Given the description of an element on the screen output the (x, y) to click on. 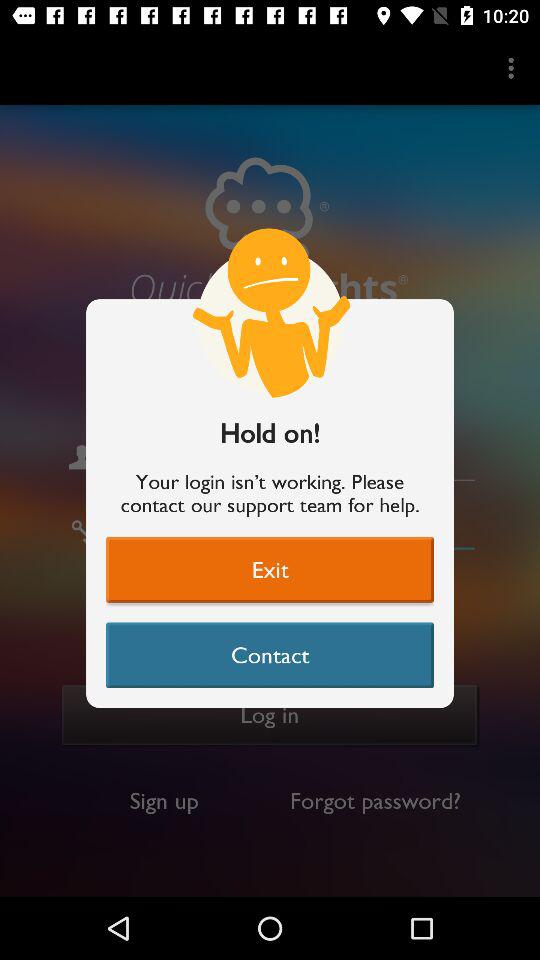
launch icon below the your login isn icon (269, 569)
